Given the description of an element on the screen output the (x, y) to click on. 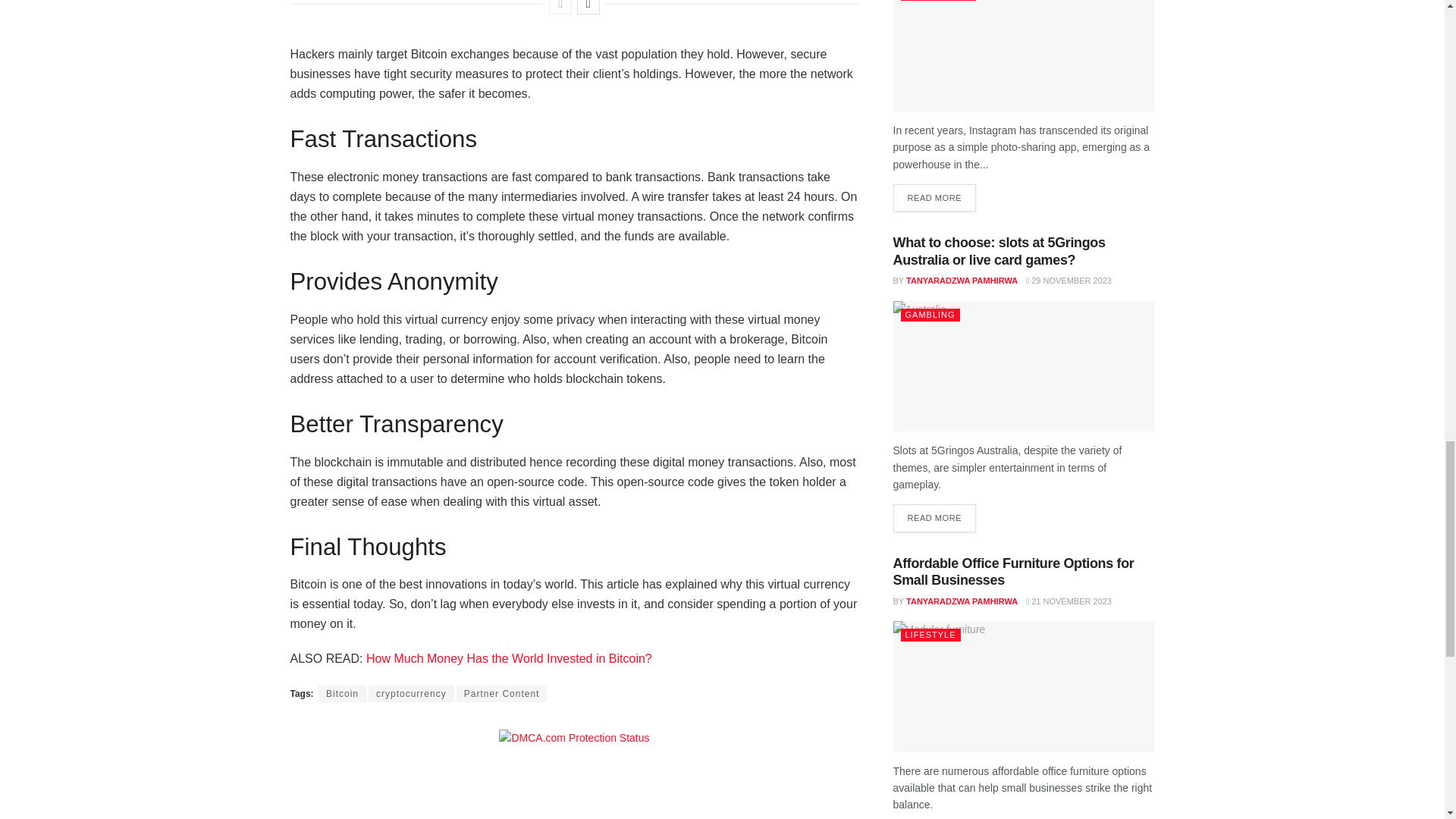
Next (587, 7)
DMCA.com Protection Status (574, 736)
Previous (560, 7)
